Given the description of an element on the screen output the (x, y) to click on. 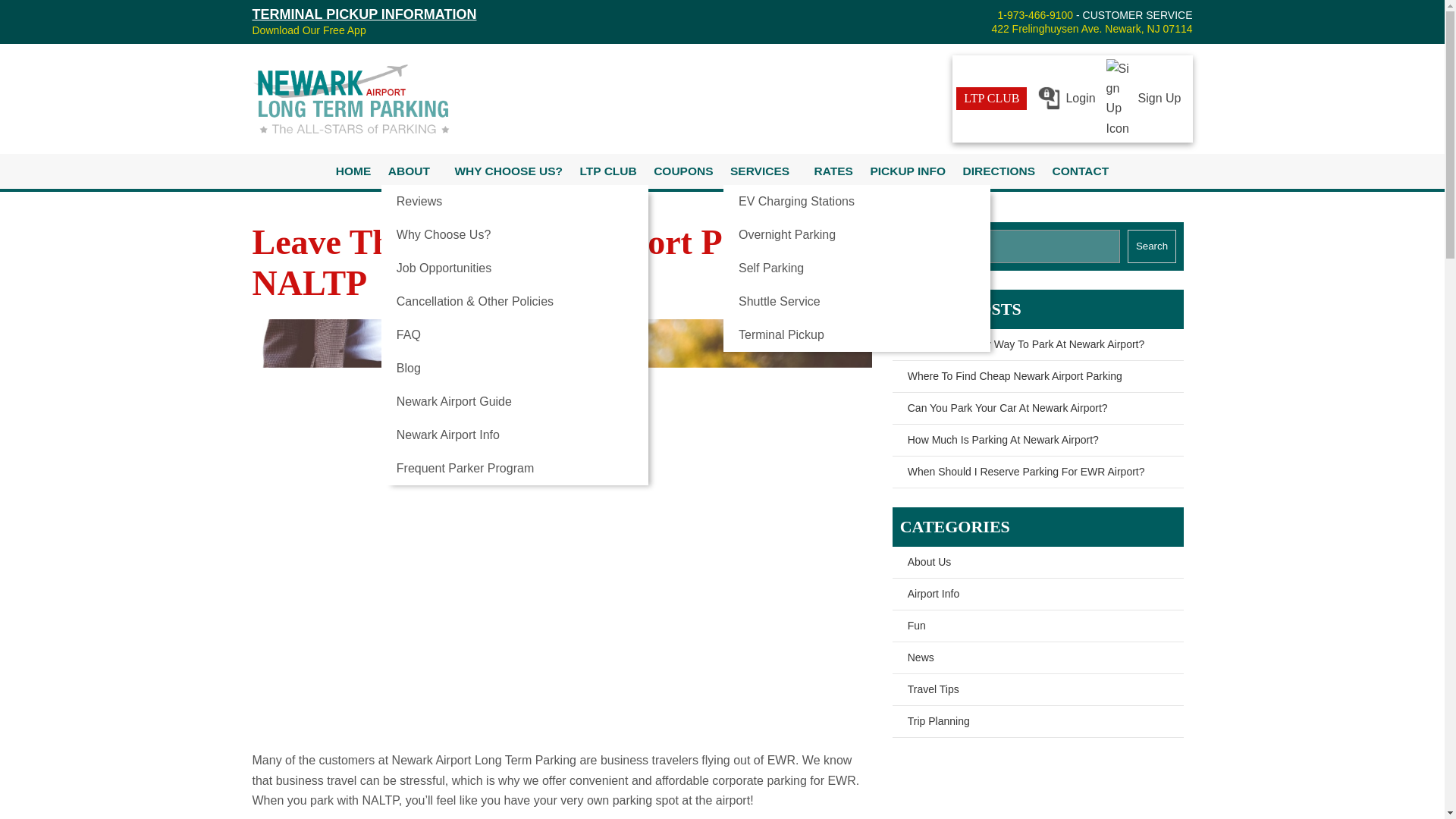
PICKUP INFO (907, 171)
Search (1151, 246)
RATES (834, 171)
TERMINAL PICKUP INFORMATION (363, 14)
COUPONS (682, 171)
What Is The Easy Way To Park At Newark Airport? (1037, 345)
SERVICES (759, 171)
Login (1065, 98)
FAQ (514, 335)
Self Parking (856, 268)
